Given the description of an element on the screen output the (x, y) to click on. 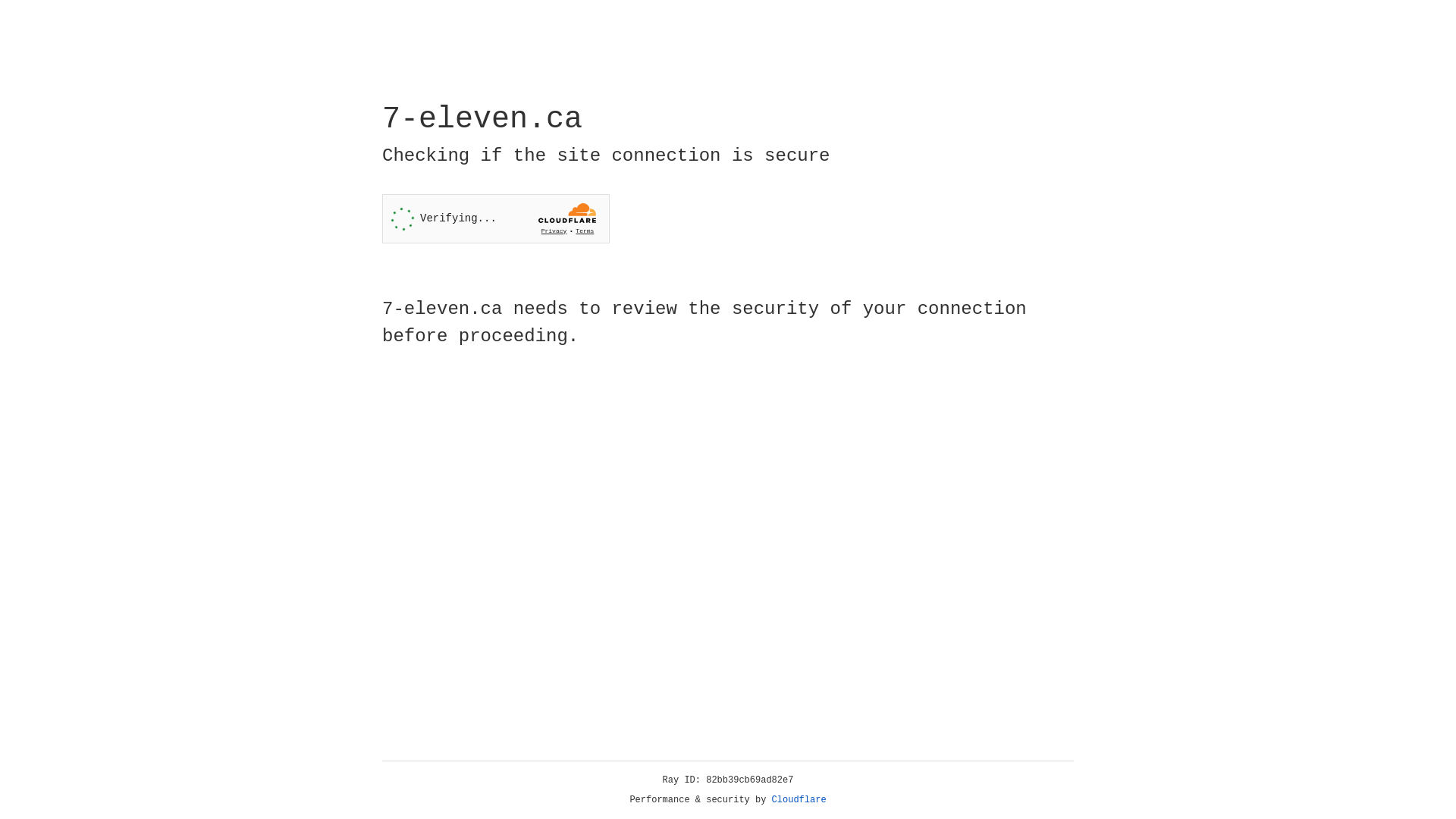
Cloudflare Element type: text (798, 799)
Widget containing a Cloudflare security challenge Element type: hover (495, 218)
